Given the description of an element on the screen output the (x, y) to click on. 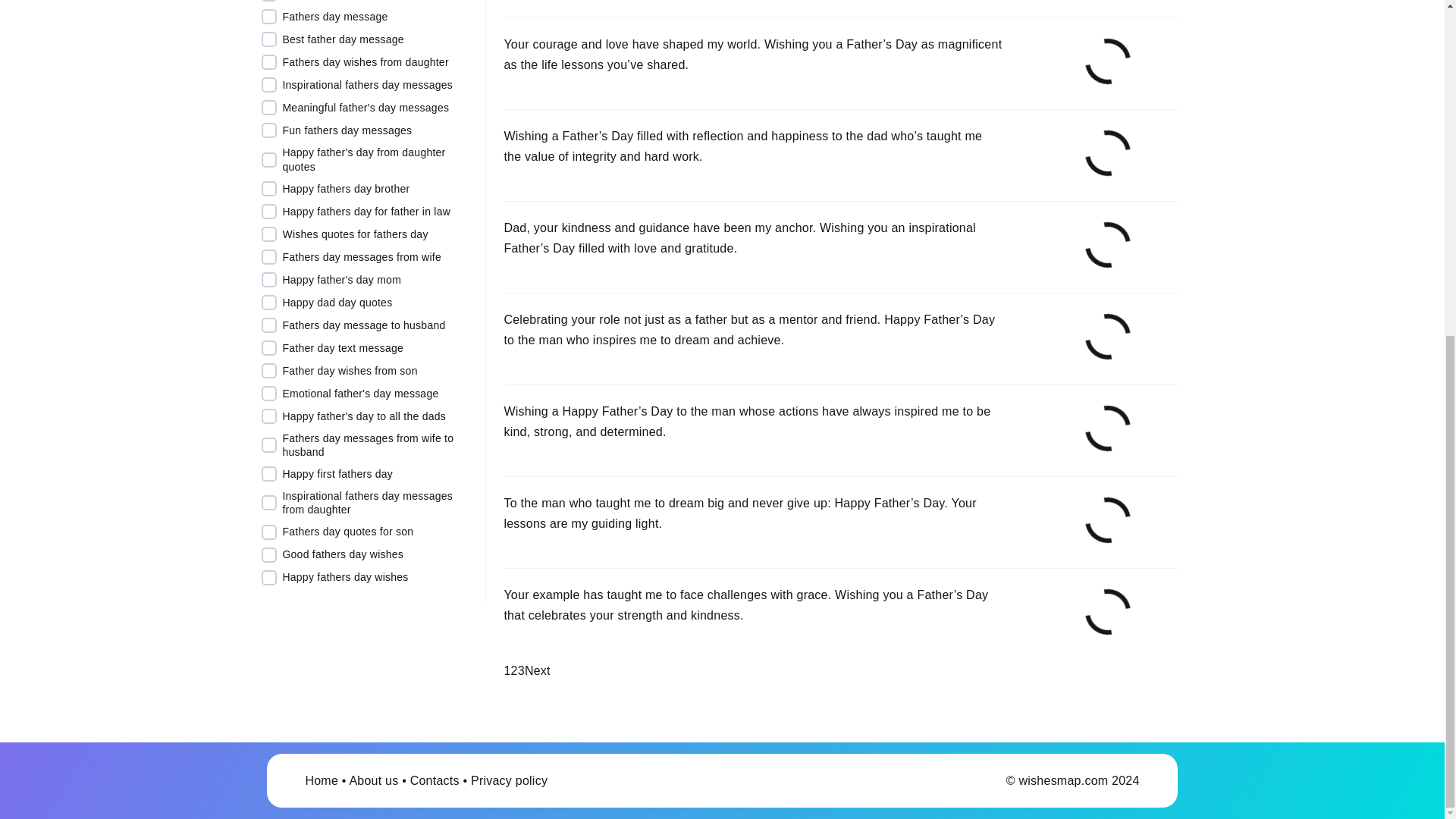
on (269, 38)
on (269, 211)
on (269, 107)
on (269, 159)
on (269, 84)
on (269, 188)
on (269, 16)
on (269, 61)
on (269, 130)
